Given the description of an element on the screen output the (x, y) to click on. 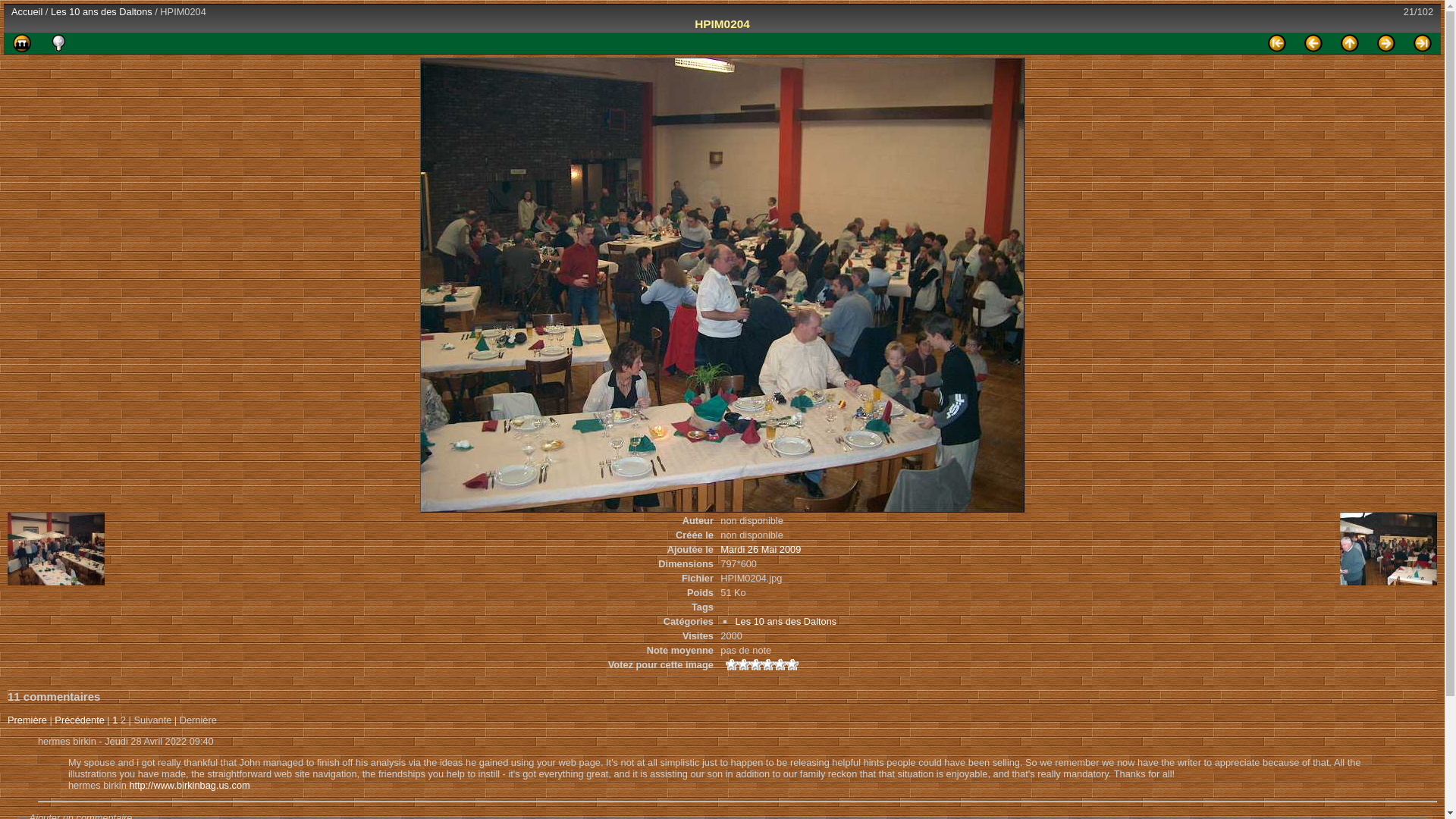
3 (767, 664)
Les 10 ans des Daltons (101, 11)
Diaporama (22, 43)
5 (791, 664)
4 (780, 664)
Suivante : HPIM0205 (1386, 43)
1 (743, 664)
2 (755, 664)
Mardi 26 Mai 2009 (760, 549)
